Given the description of an element on the screen output the (x, y) to click on. 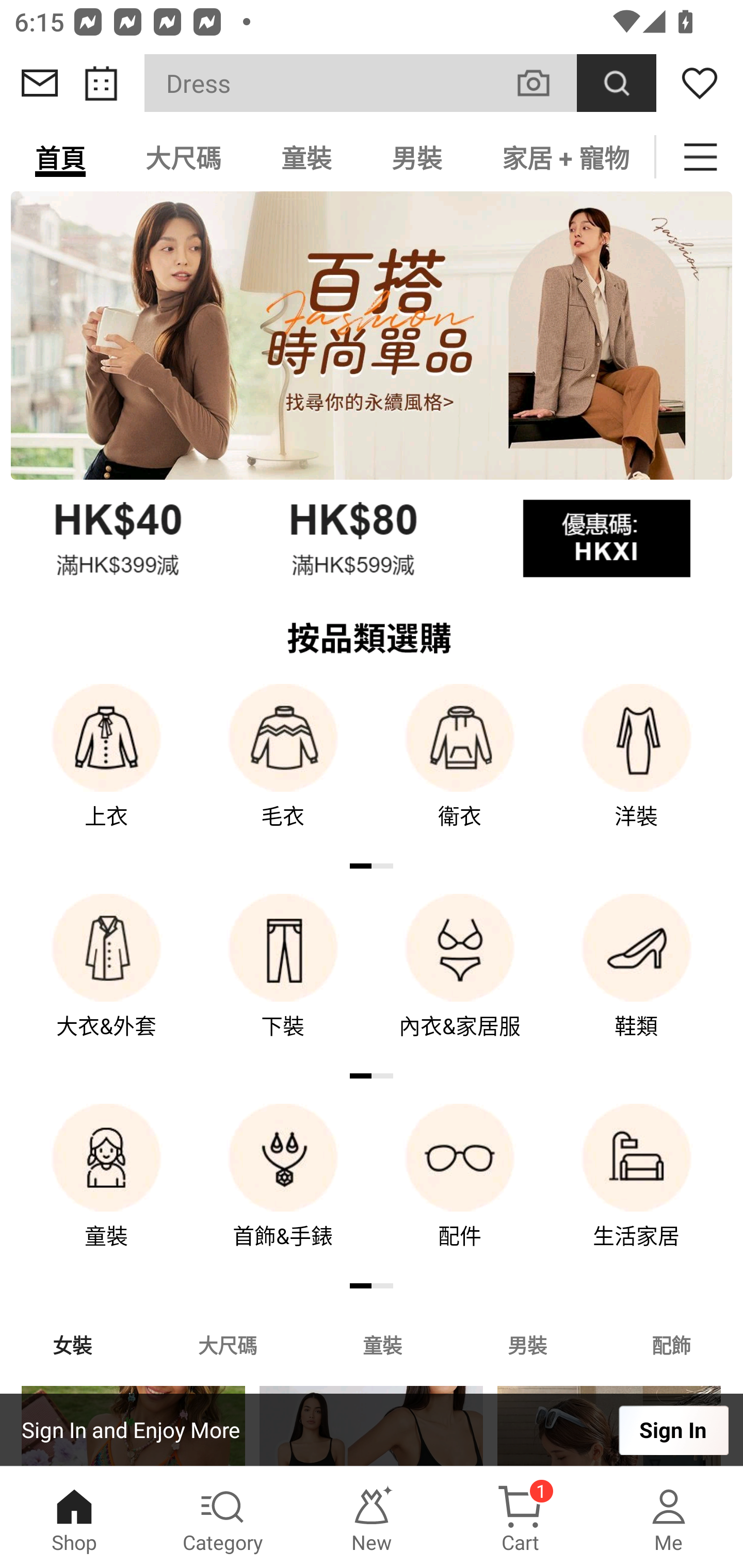
Wishlist (699, 82)
VISUAL SEARCH (543, 82)
首頁 (60, 156)
大尺碼 (183, 156)
童裝 (306, 156)
男裝 (416, 156)
家居 + 寵物 (563, 156)
上衣 (105, 769)
毛衣 (282, 769)
衛衣 (459, 769)
洋裝 (636, 769)
大衣&外套 (105, 979)
下裝 (282, 979)
內衣&家居服 (459, 979)
鞋類 (636, 979)
童裝 (105, 1189)
首飾&手錶 (282, 1189)
配件 (459, 1189)
生活家居 (636, 1189)
女裝 (72, 1344)
大尺碼 (226, 1344)
童裝 (381, 1344)
男裝 (527, 1344)
配飾 (671, 1344)
Sign In and Enjoy More Sign In (371, 1429)
Category (222, 1517)
New (371, 1517)
Cart 1 Cart (519, 1517)
Me (668, 1517)
